Given the description of an element on the screen output the (x, y) to click on. 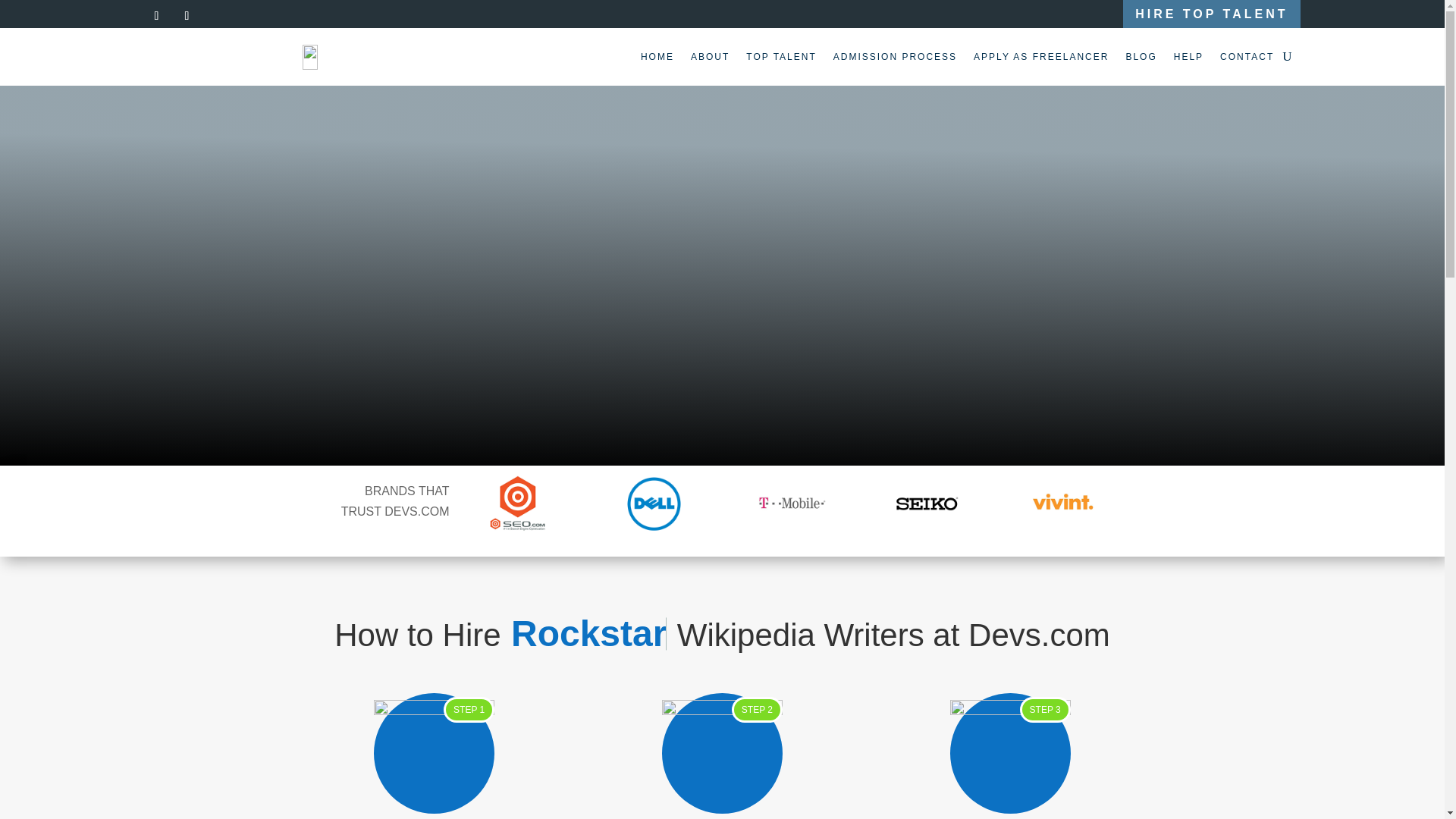
tmobile (790, 503)
seiko (927, 503)
vivint (1063, 503)
Follow on Facebook (156, 15)
TOP TALENT (780, 56)
seo (517, 503)
APPLY AS FREELANCER (1041, 56)
HIRE TOP TALENT (1211, 13)
ADMISSION PROCESS (894, 56)
Follow on Instagram (186, 15)
